Given the description of an element on the screen output the (x, y) to click on. 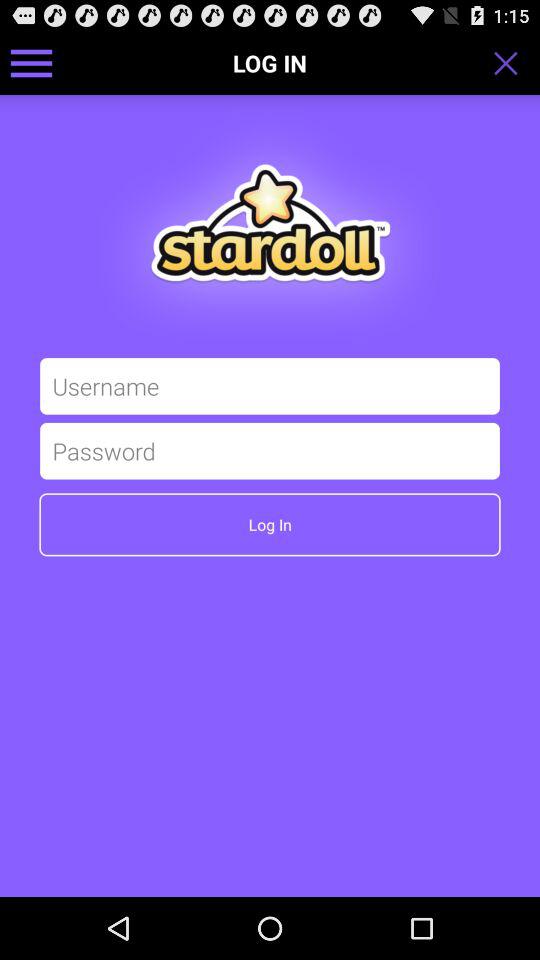
the toggle is used to close the login page (512, 63)
